Given the description of an element on the screen output the (x, y) to click on. 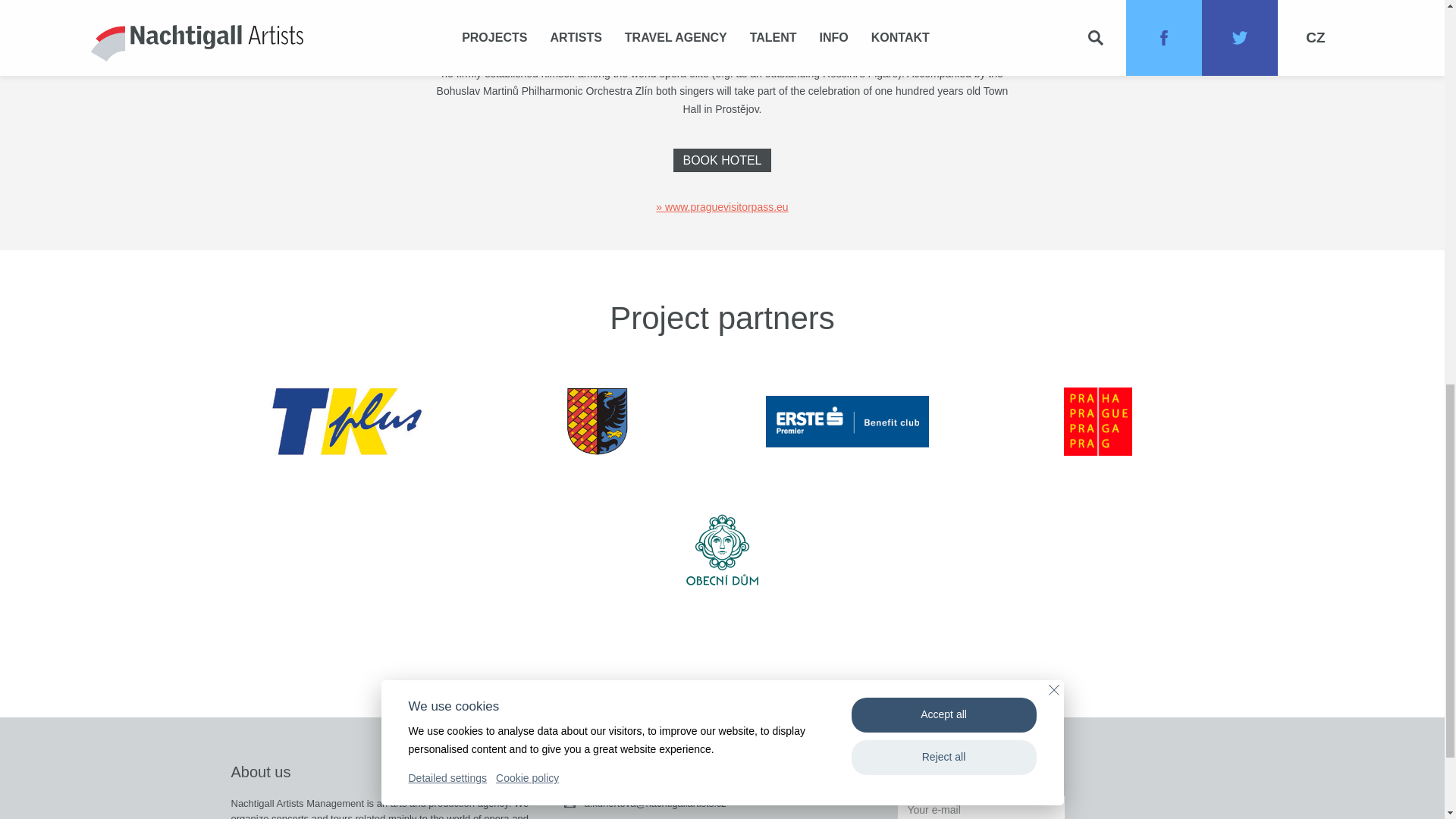
TK Plus (346, 421)
Benefit klub ERSTE Premier (846, 421)
BOOK HOTEL (721, 159)
